Given the description of an element on the screen output the (x, y) to click on. 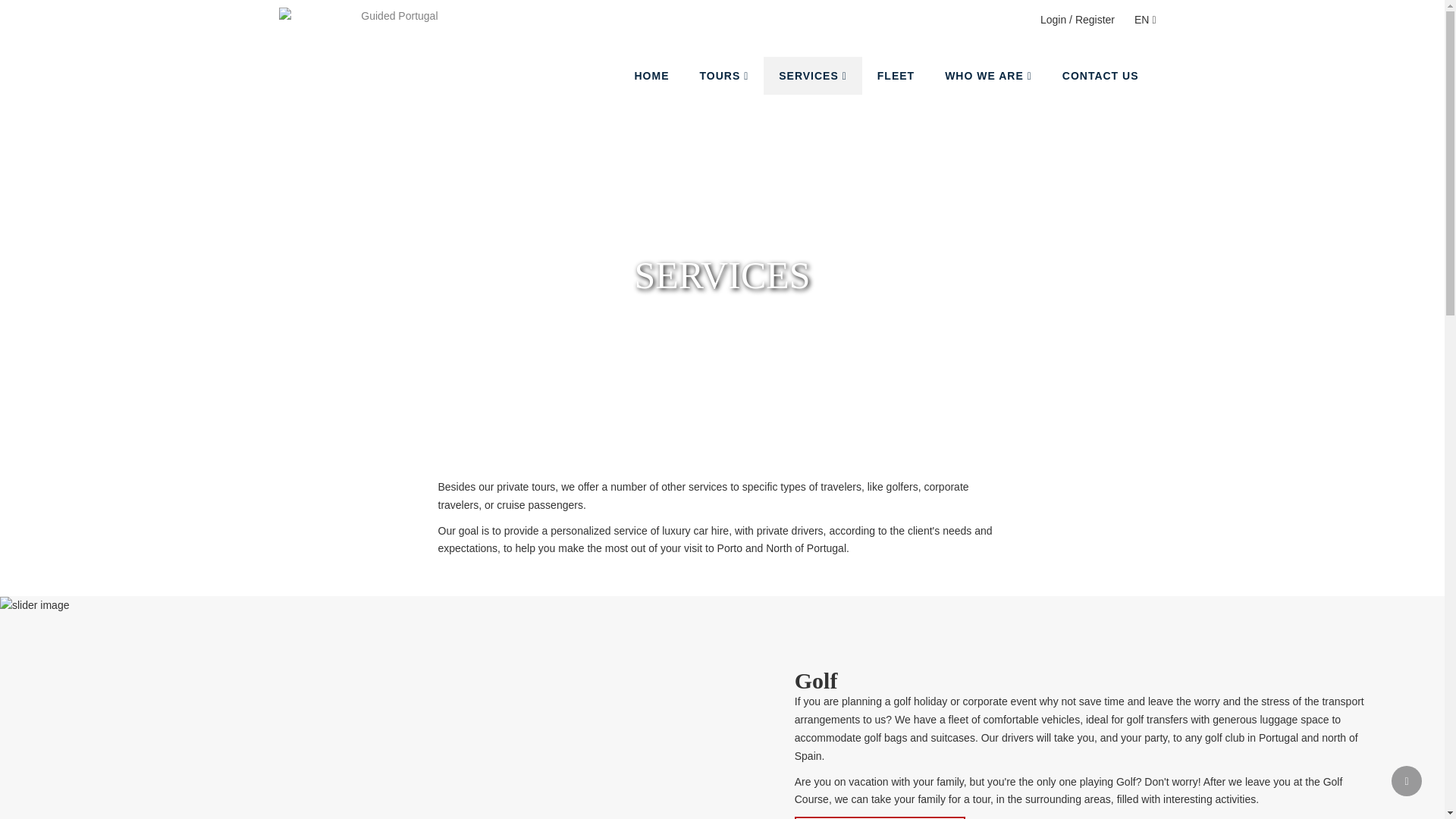
HOME (651, 75)
Click to login in or create a new account (1077, 20)
CONTACT US (1100, 75)
SERVICES (811, 75)
TOURS (723, 75)
EN (1145, 20)
WHO WE ARE (988, 75)
FLEET (895, 75)
Contact us for more details (879, 817)
